Given the description of an element on the screen output the (x, y) to click on. 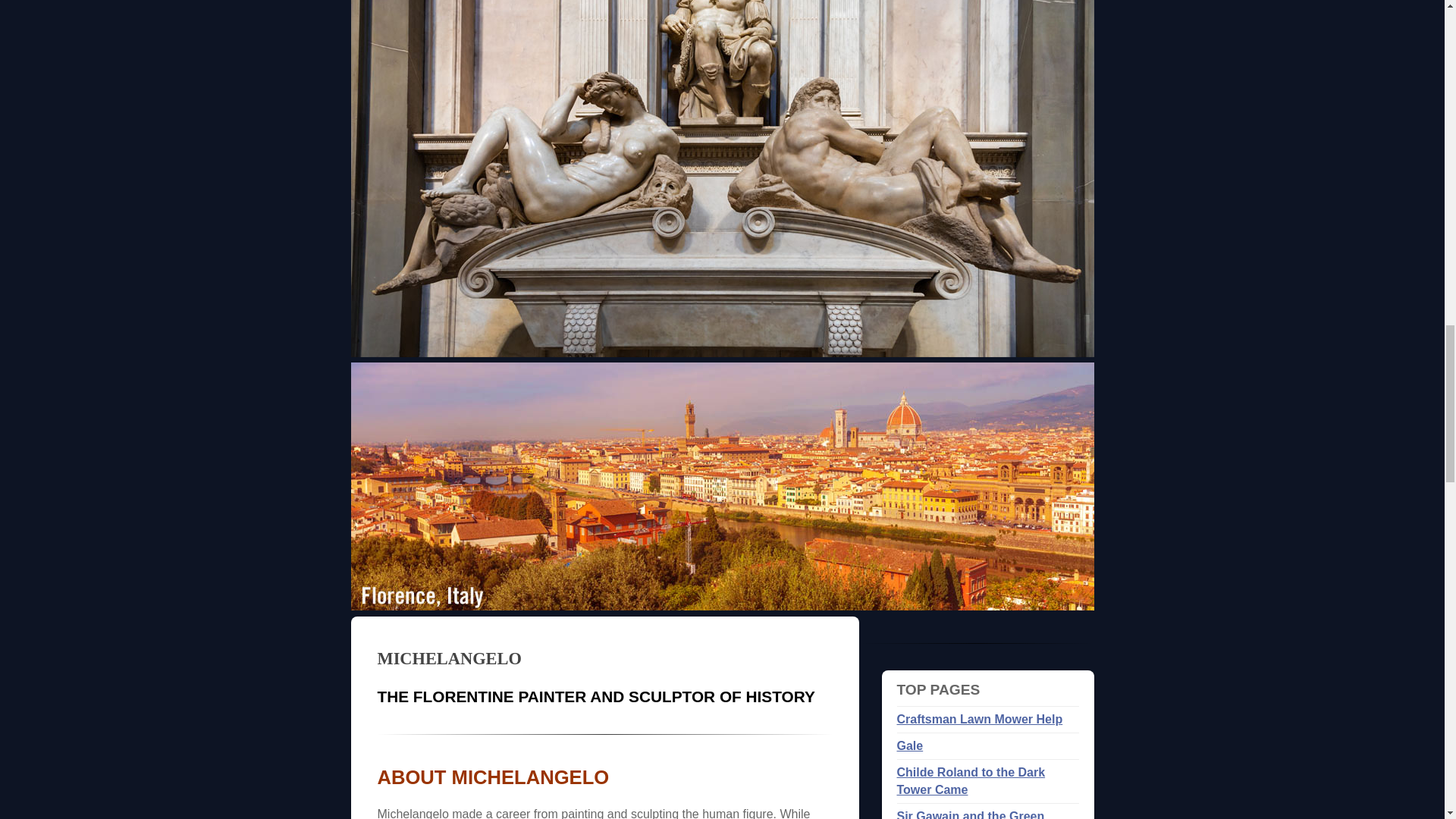
Childe Roland to the Dark Tower Came (970, 780)
Gale (909, 745)
Childe Roland to the Dark Tower Came (970, 780)
Sir Gawain and the Green Knight (969, 814)
Craftsman Lawn Mower Help (979, 718)
Sir Gawain and the Green Knight (969, 814)
Craftsman Lawnmower help (979, 718)
